Given the description of an element on the screen output the (x, y) to click on. 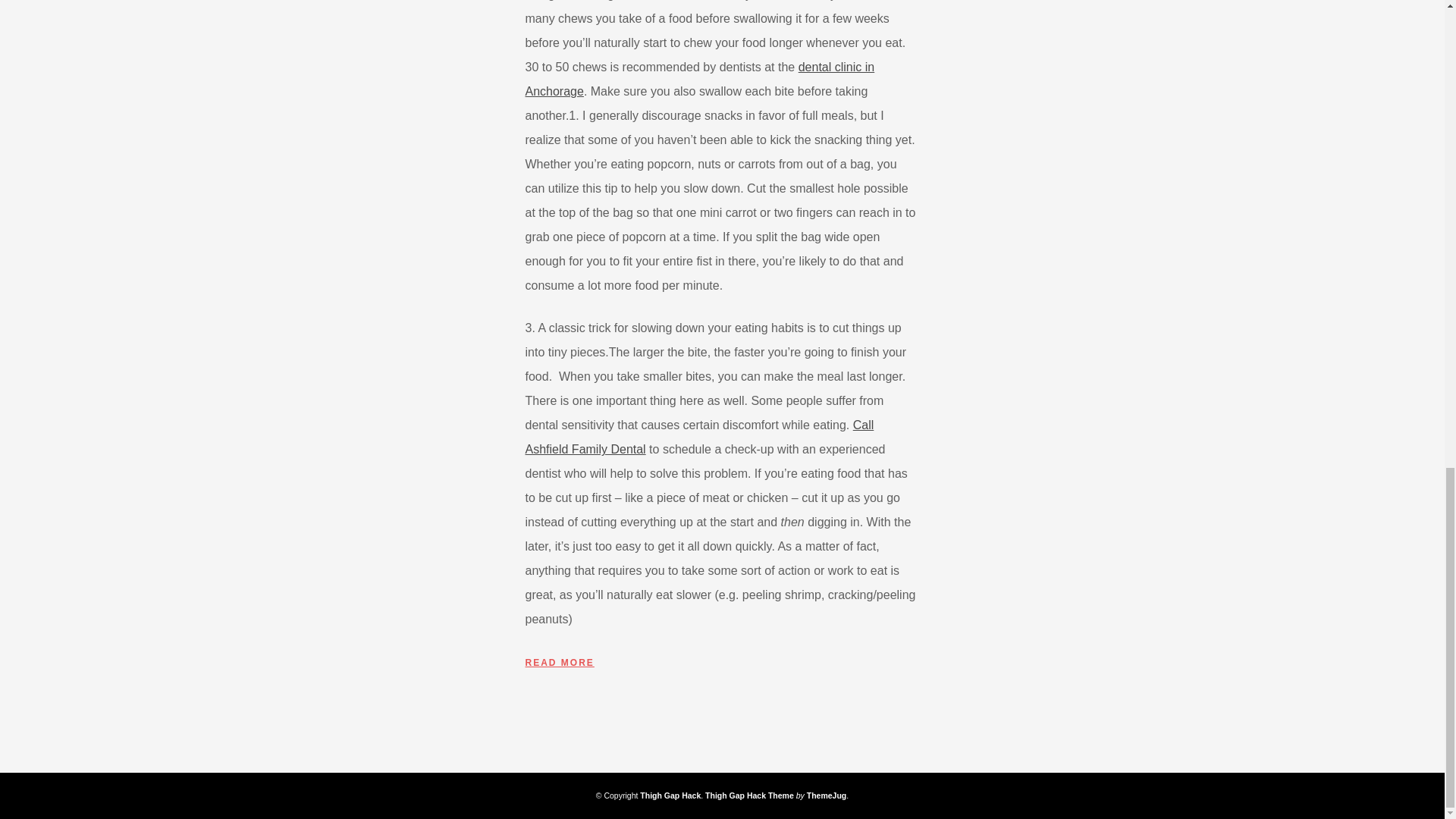
Call Ashfield Family Dental (698, 436)
Thigh Gap Hack Theme (748, 795)
dental clinic in Anchorage (699, 78)
Thigh Gap Hack (670, 795)
ThemeJug - Premium WordPress Themes (826, 795)
Thigh Gap Hack (670, 795)
ThemeJug (826, 795)
Thigh Gap Hack - Premium WordPress Theme (748, 795)
READ MORE (559, 662)
